Given the description of an element on the screen output the (x, y) to click on. 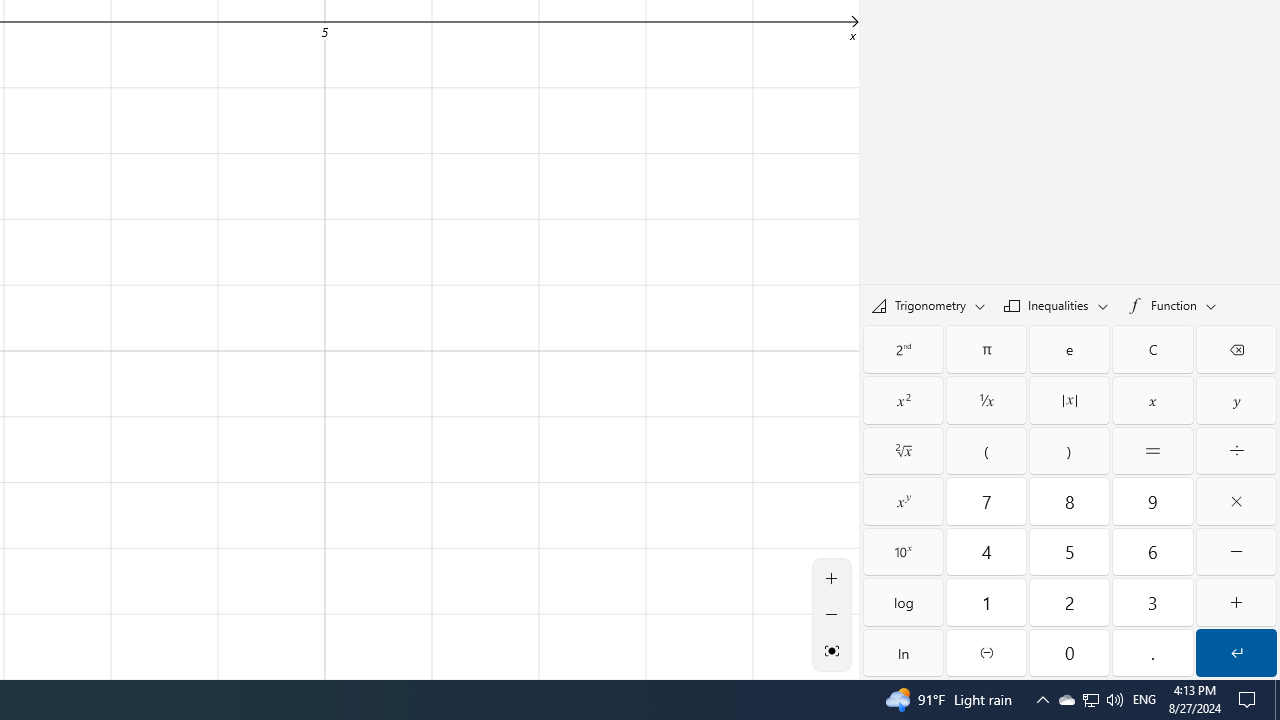
Y (1236, 399)
Right parenthesis (1069, 450)
Graph view (831, 650)
Absolute value (1069, 399)
Seven (985, 501)
Inverse function (903, 348)
Ten to the exponent (903, 551)
Pi (985, 348)
Tray Input Indicator - English (United States) (1144, 699)
Decimal separator (1153, 652)
Five (1069, 551)
Square root (903, 450)
